Given the description of an element on the screen output the (x, y) to click on. 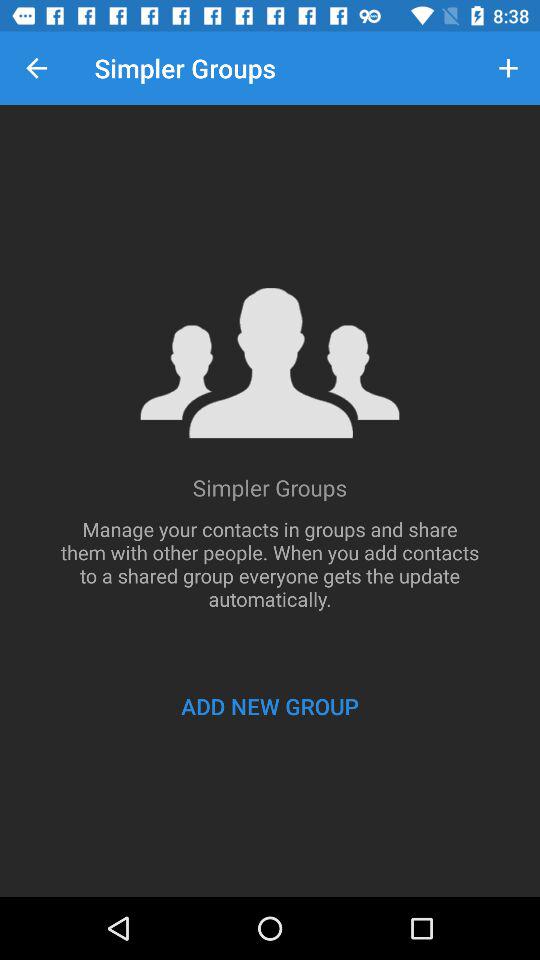
select item to the right of simpler groups icon (508, 67)
